Given the description of an element on the screen output the (x, y) to click on. 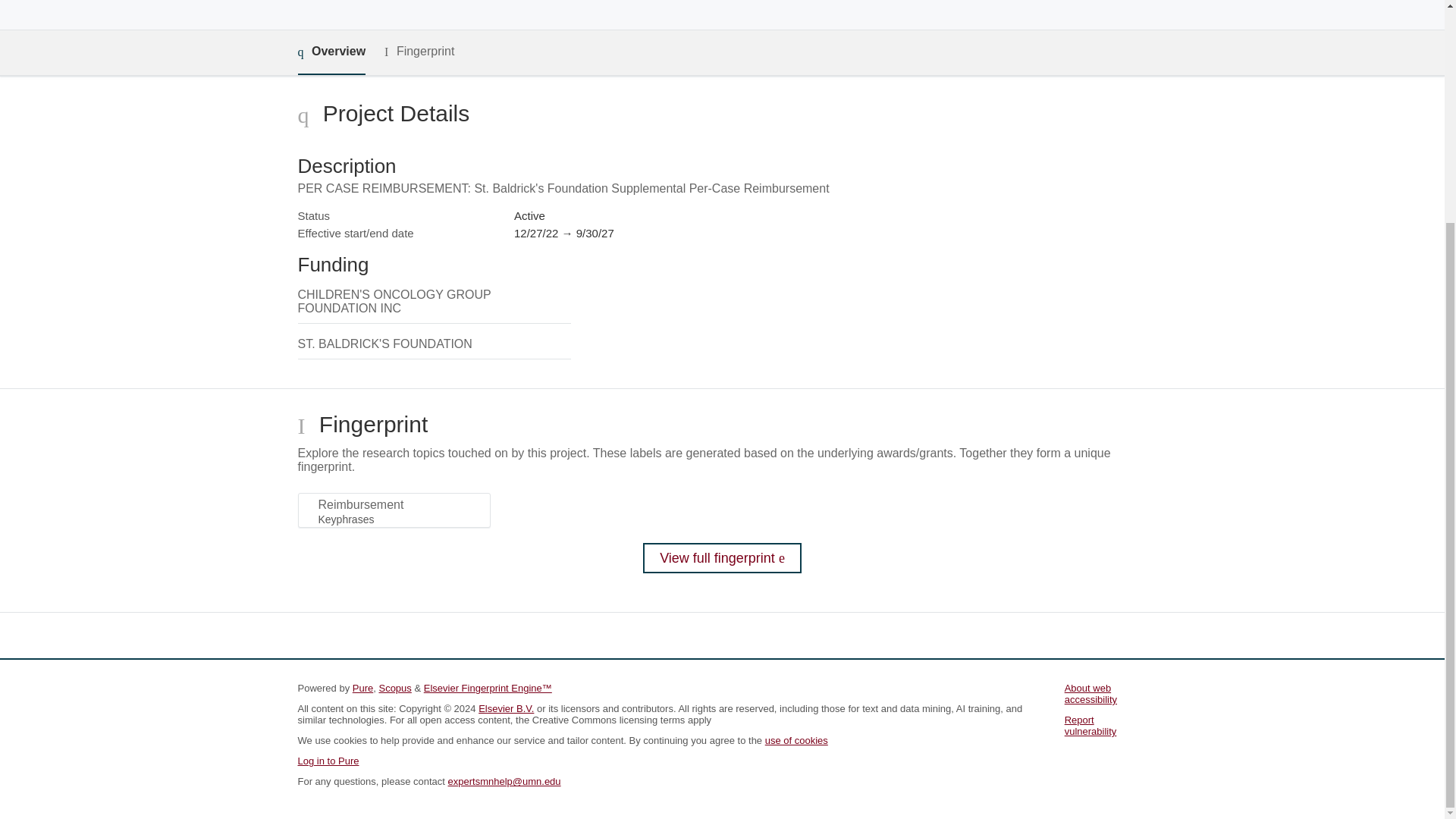
Fingerprint (419, 51)
View full fingerprint (722, 557)
use of cookies (796, 740)
Pure (362, 687)
Scopus (394, 687)
Elsevier B.V. (506, 708)
Overview (331, 52)
Log in to Pure (327, 760)
About web accessibility (1090, 693)
Report vulnerability (1090, 725)
